Given the description of an element on the screen output the (x, y) to click on. 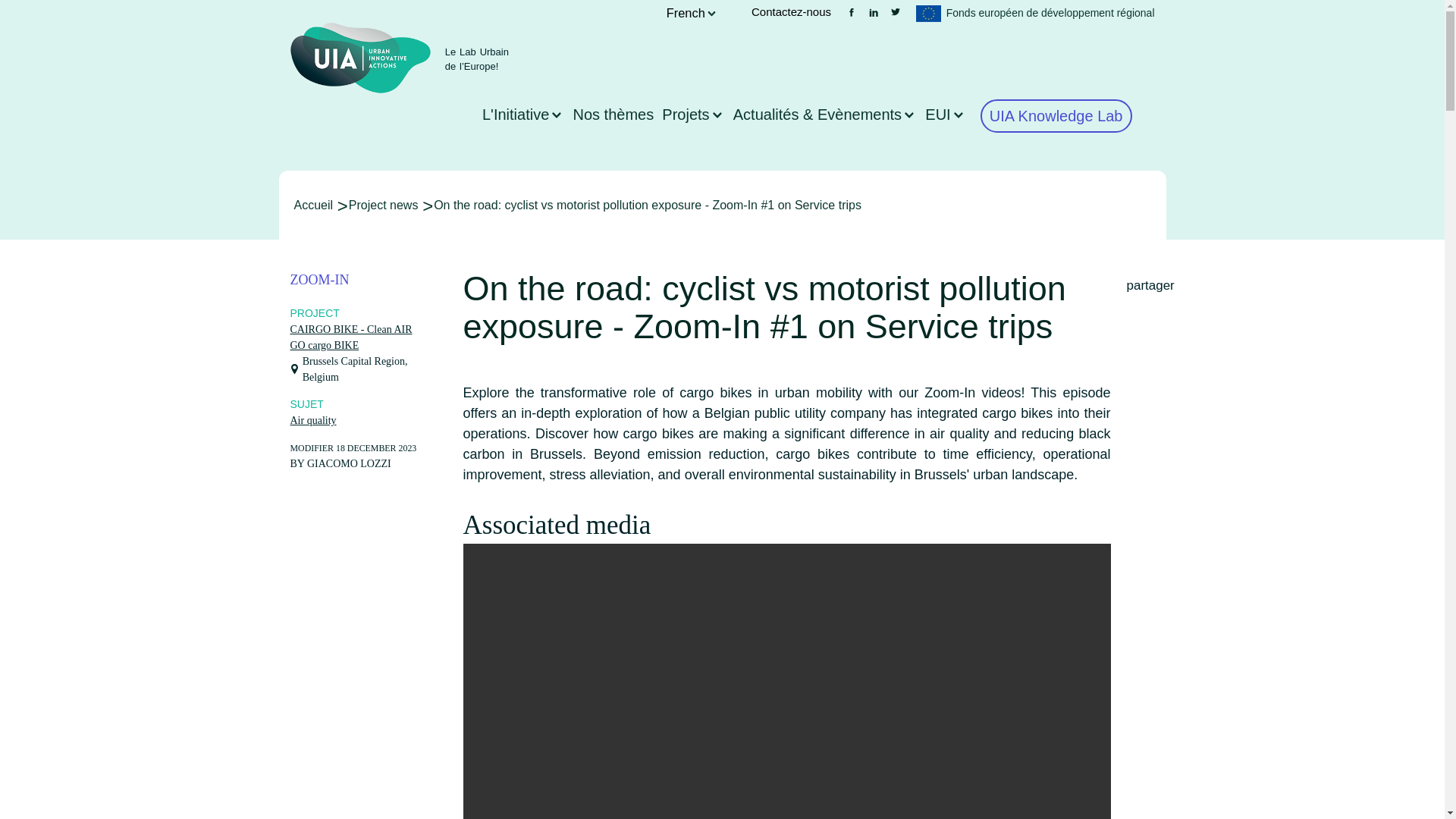
Contactez-nous (791, 11)
UIA Knowledge Lab (1055, 115)
CAIRGO BIKE - Clean AIR GO cargo BIKE (350, 337)
French (685, 12)
Air quality (312, 419)
Accueil (313, 205)
Aller au contenu principal (721, 1)
